Given the description of an element on the screen output the (x, y) to click on. 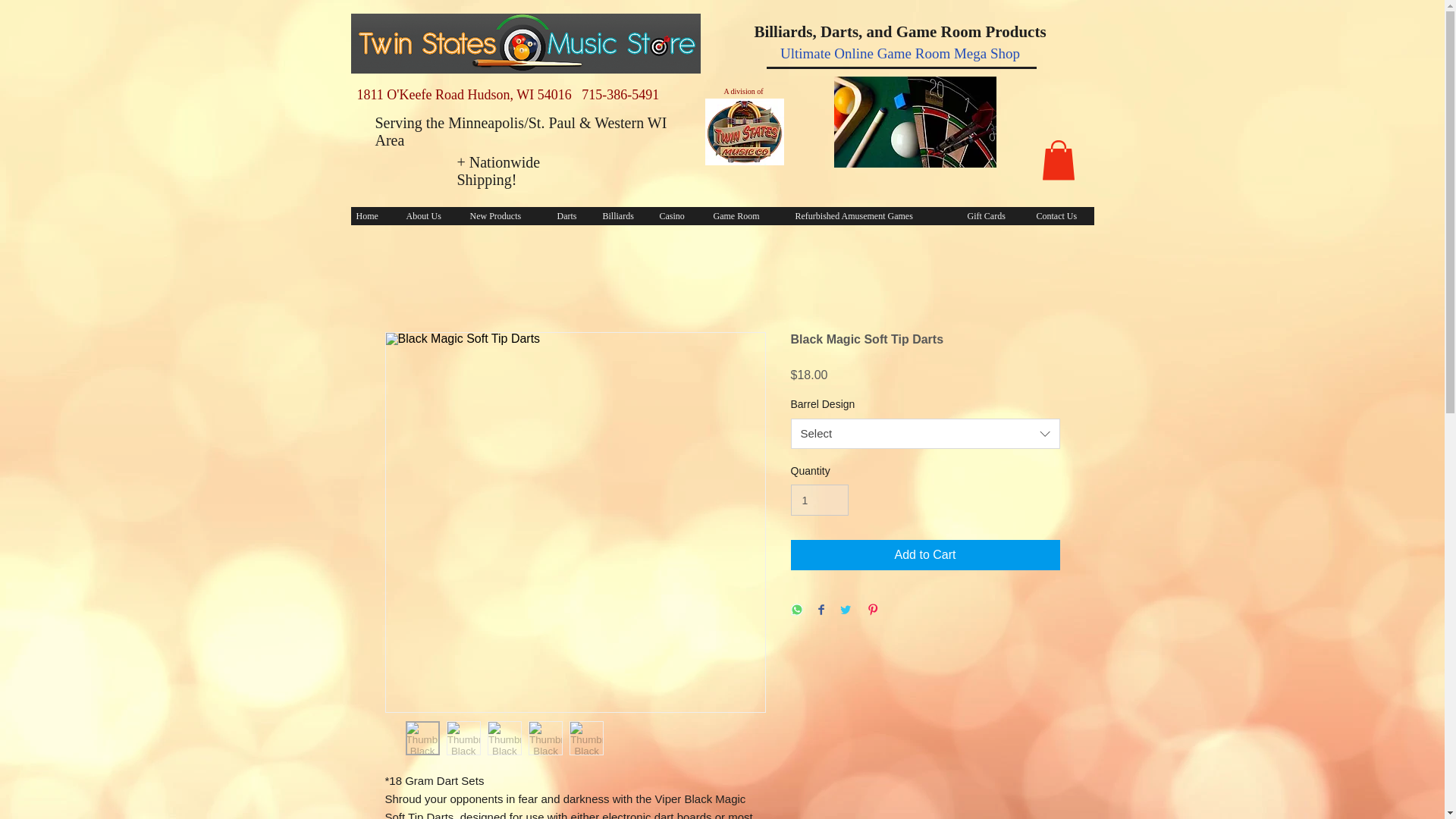
New Products (501, 216)
Ultimate (804, 53)
Casino (674, 216)
About Us (426, 216)
Billiards (619, 216)
Home (368, 216)
A division of (742, 90)
Darts (568, 216)
Game Room (742, 216)
1 (818, 499)
